Given the description of an element on the screen output the (x, y) to click on. 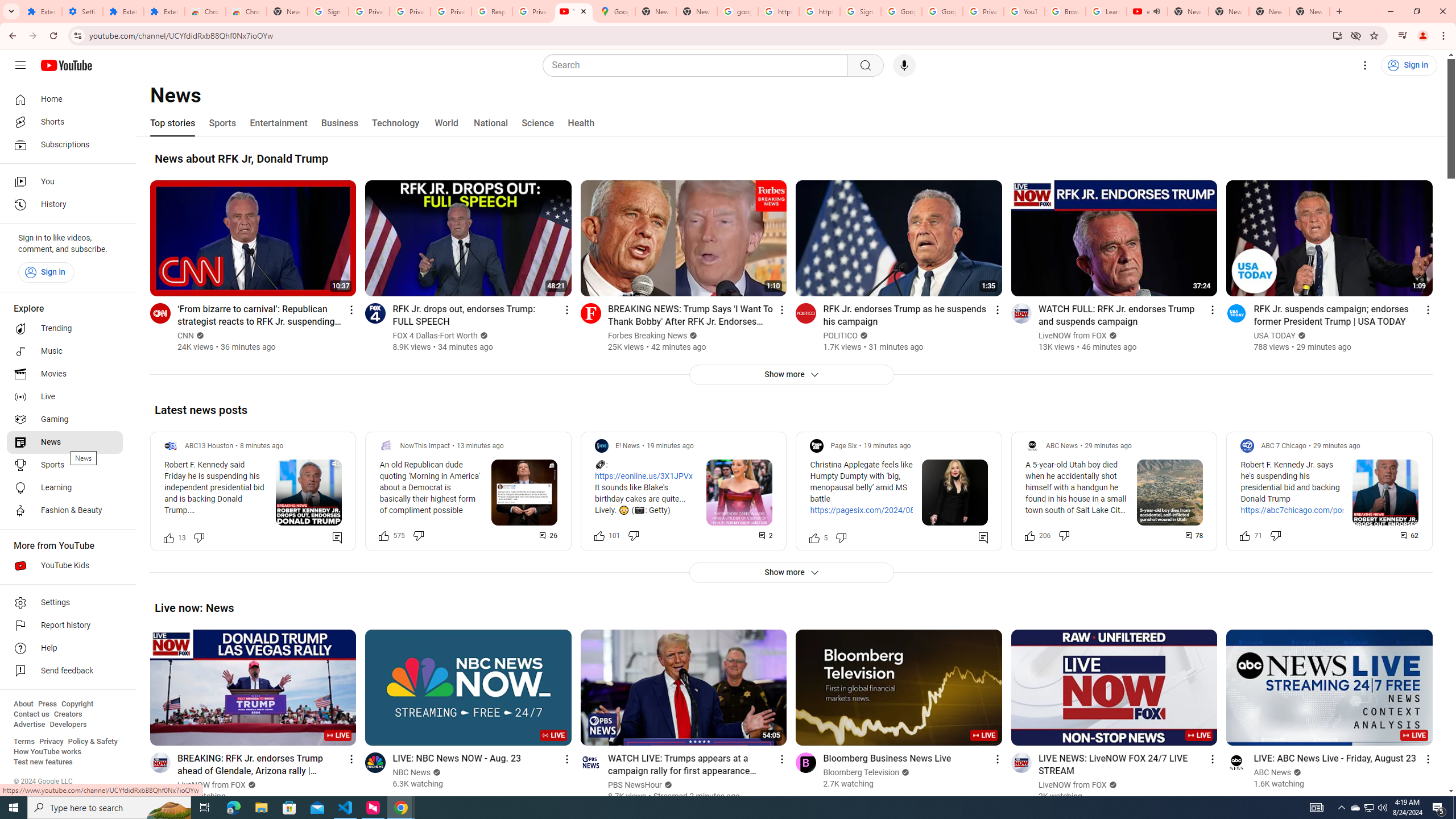
Go to channel (1236, 762)
PBS NewsHour (634, 784)
Settings (1365, 65)
Search (697, 65)
Technology (395, 122)
Science (537, 122)
ABC13 Houston (209, 445)
https://scholar.google.com/ (818, 11)
NowThis Impact (424, 445)
Like this post along with 13 other people (168, 537)
19 minutes ago (887, 445)
